Given the description of an element on the screen output the (x, y) to click on. 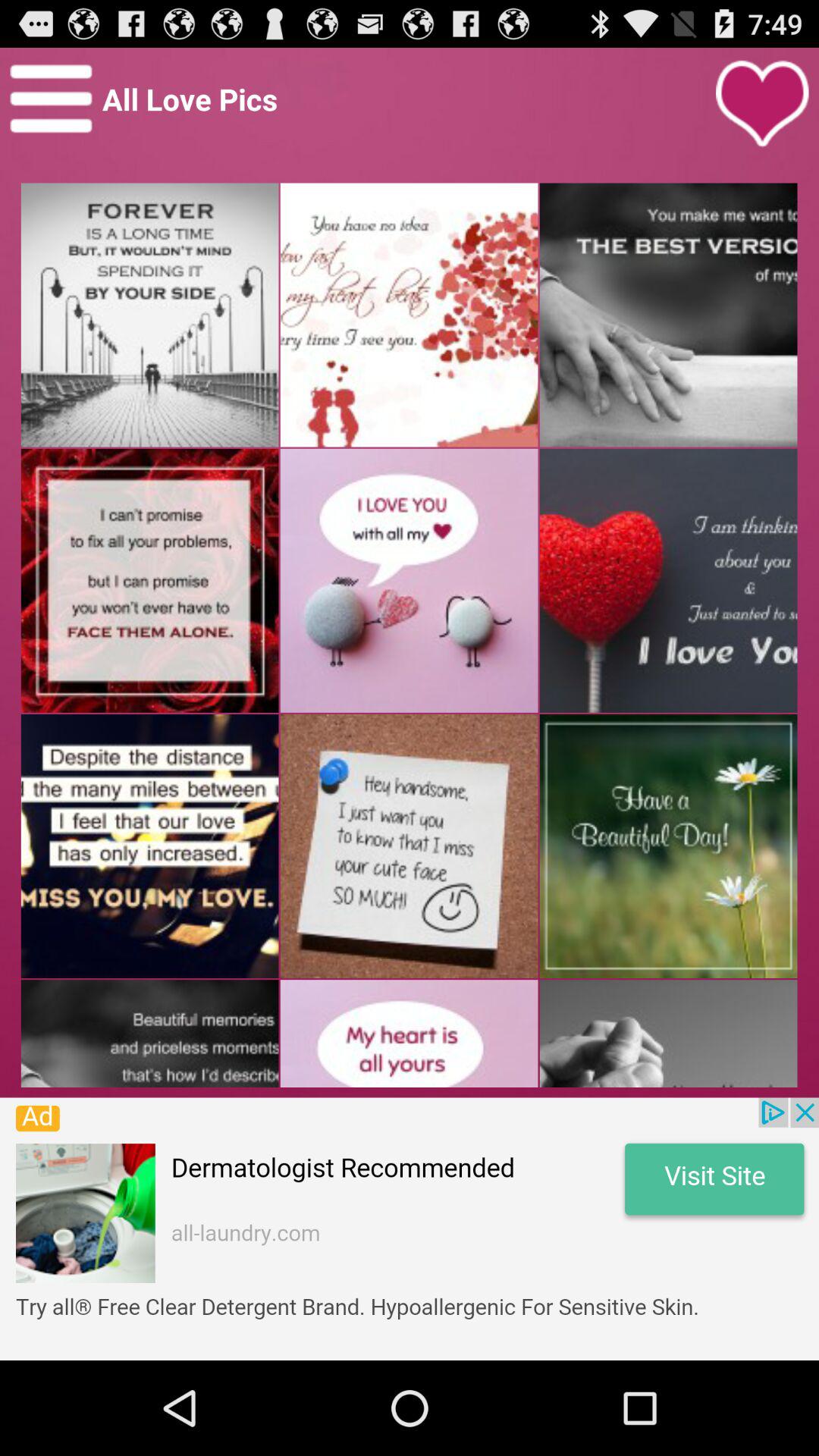
like the page (762, 104)
